Given the description of an element on the screen output the (x, y) to click on. 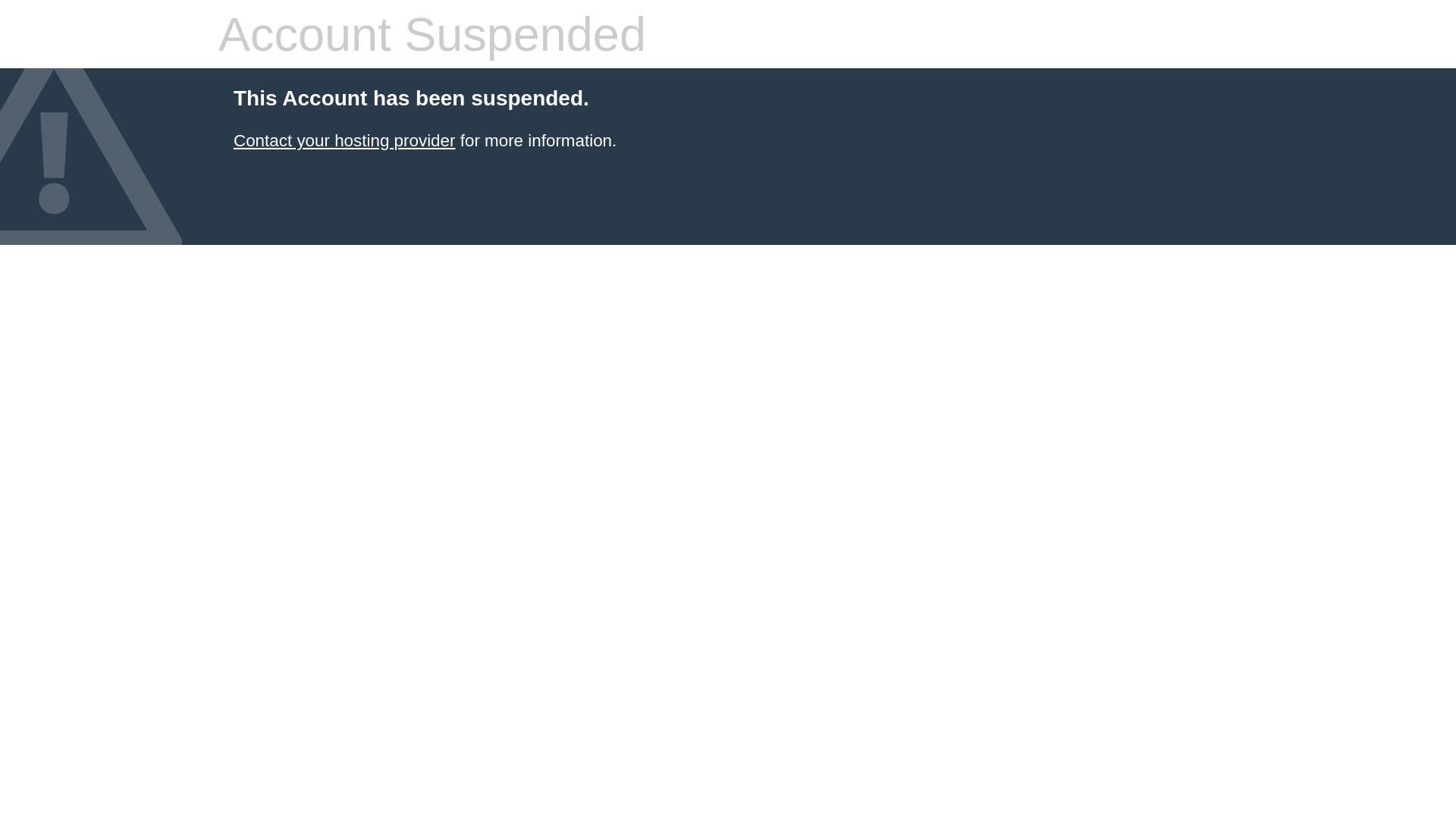
Contact your hosting provider Element type: text (344, 140)
